Given the description of an element on the screen output the (x, y) to click on. 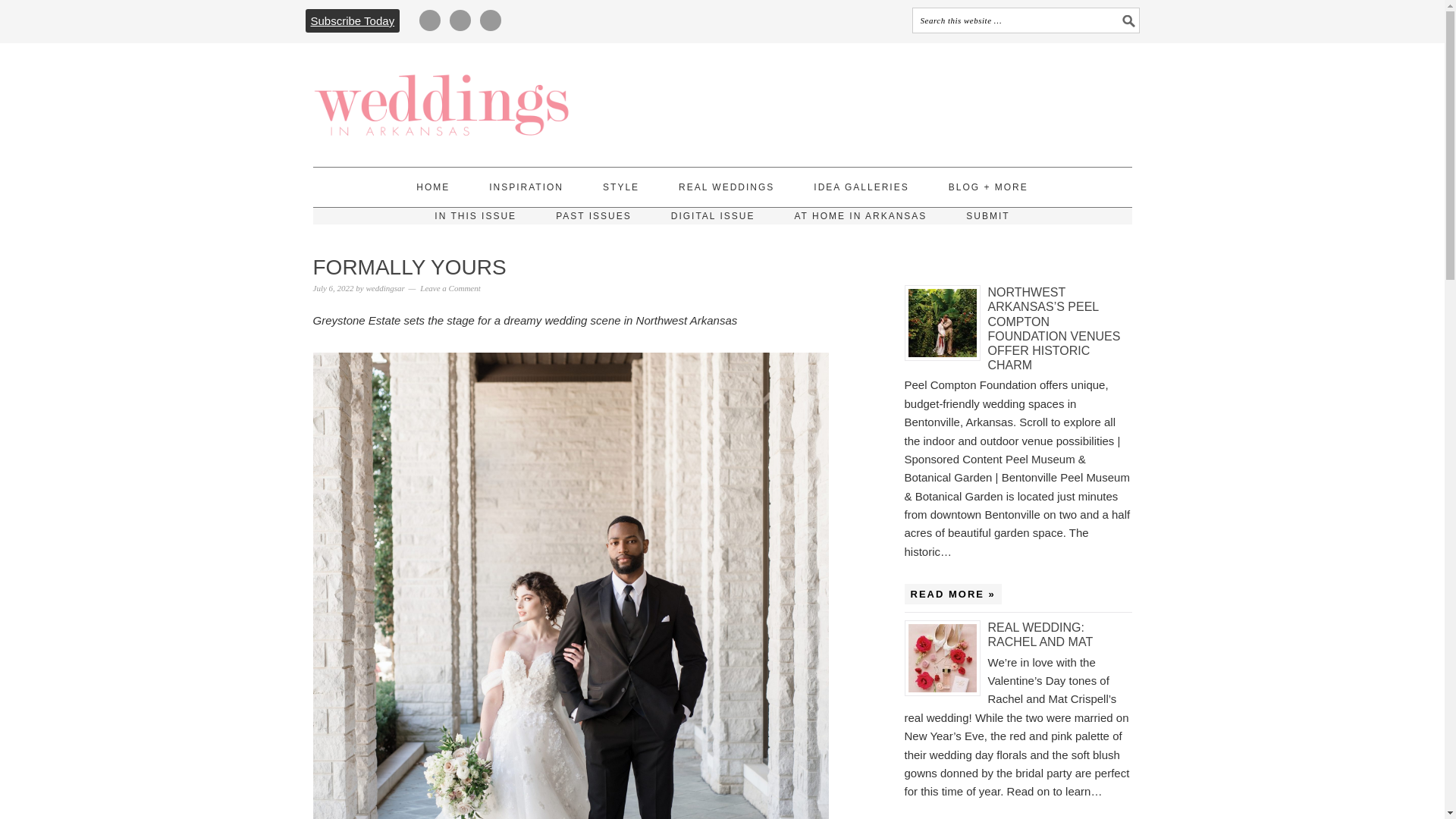
SUBMIT (987, 216)
Subscribe Today (351, 20)
IN THIS ISSUE (474, 216)
weddingsar (384, 287)
HOME (432, 187)
IDEA GALLERIES (860, 187)
Real Wedding: Rachel and Mat (945, 657)
Leave a Comment (450, 287)
AT HOME IN ARKANSAS (859, 216)
